Given the description of an element on the screen output the (x, y) to click on. 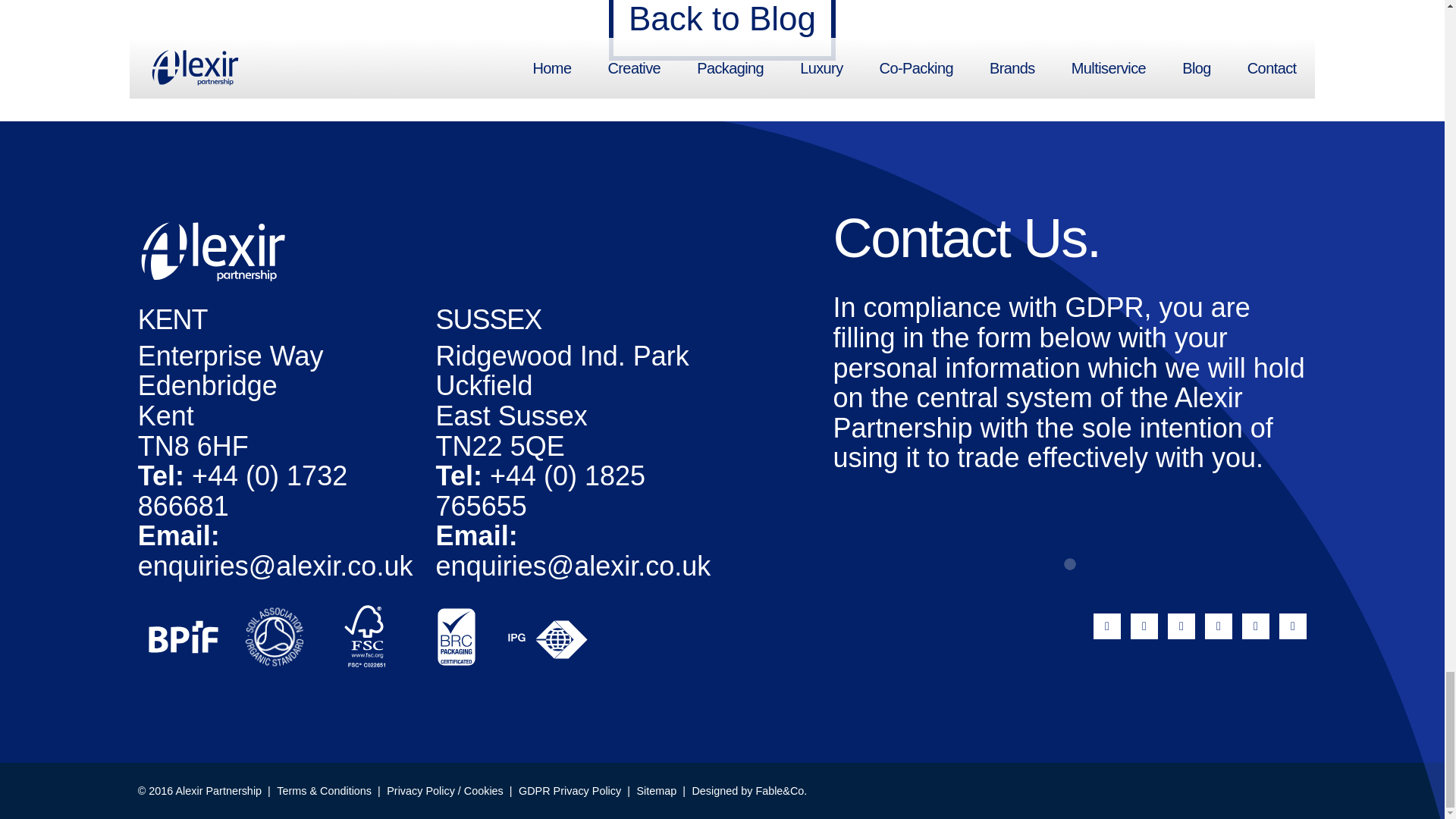
GDPR Privacy Policy (569, 790)
Sitemap (656, 790)
Back to Blog (721, 30)
